Given the description of an element on the screen output the (x, y) to click on. 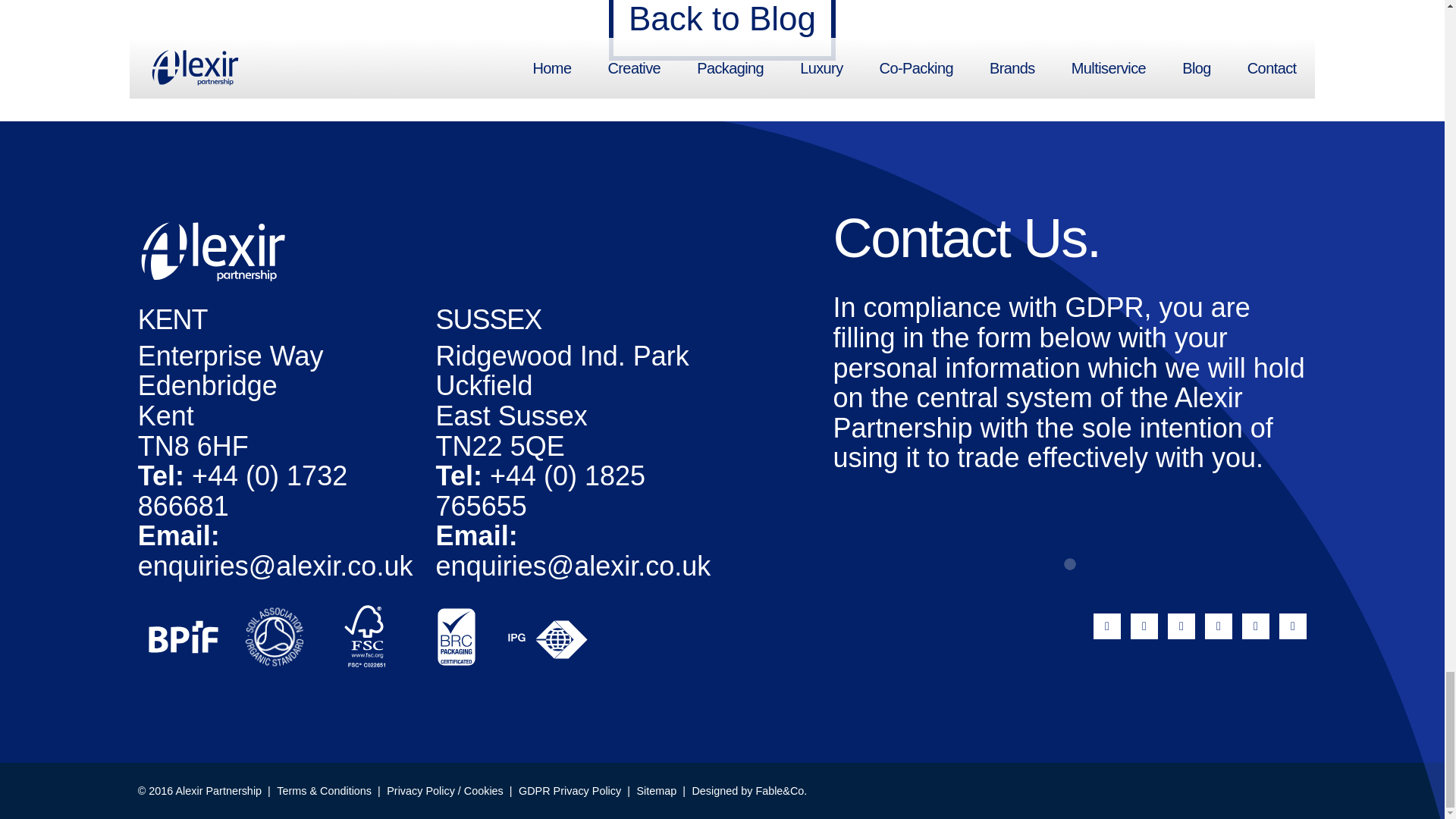
GDPR Privacy Policy (569, 790)
Sitemap (656, 790)
Back to Blog (721, 30)
